Given the description of an element on the screen output the (x, y) to click on. 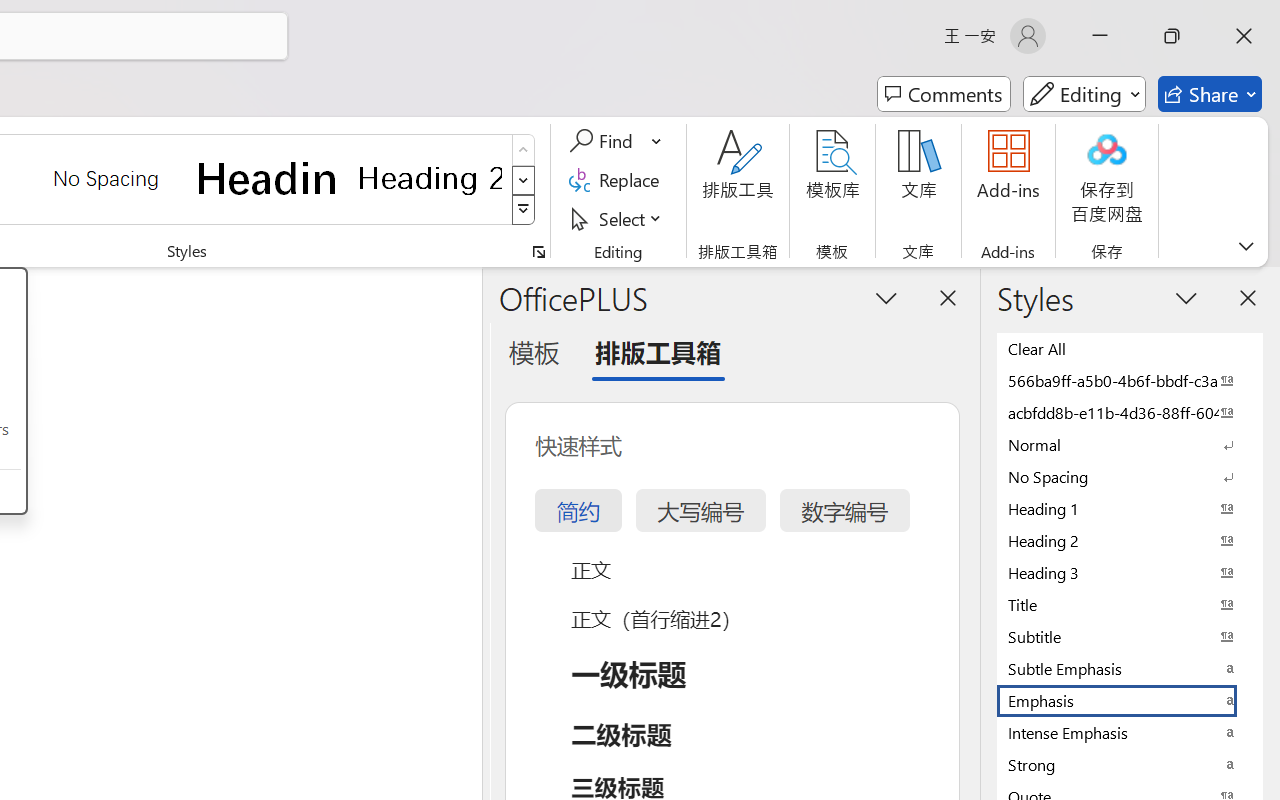
566ba9ff-a5b0-4b6f-bbdf-c3ab41993fc2 (1130, 380)
No Spacing (1130, 476)
Row Down (523, 180)
Replace... (617, 179)
Ribbon Display Options (1246, 245)
Class: NetUIImage (523, 210)
Select (618, 218)
Heading 1 (267, 178)
Clear All (1130, 348)
Row up (523, 150)
